Given the description of an element on the screen output the (x, y) to click on. 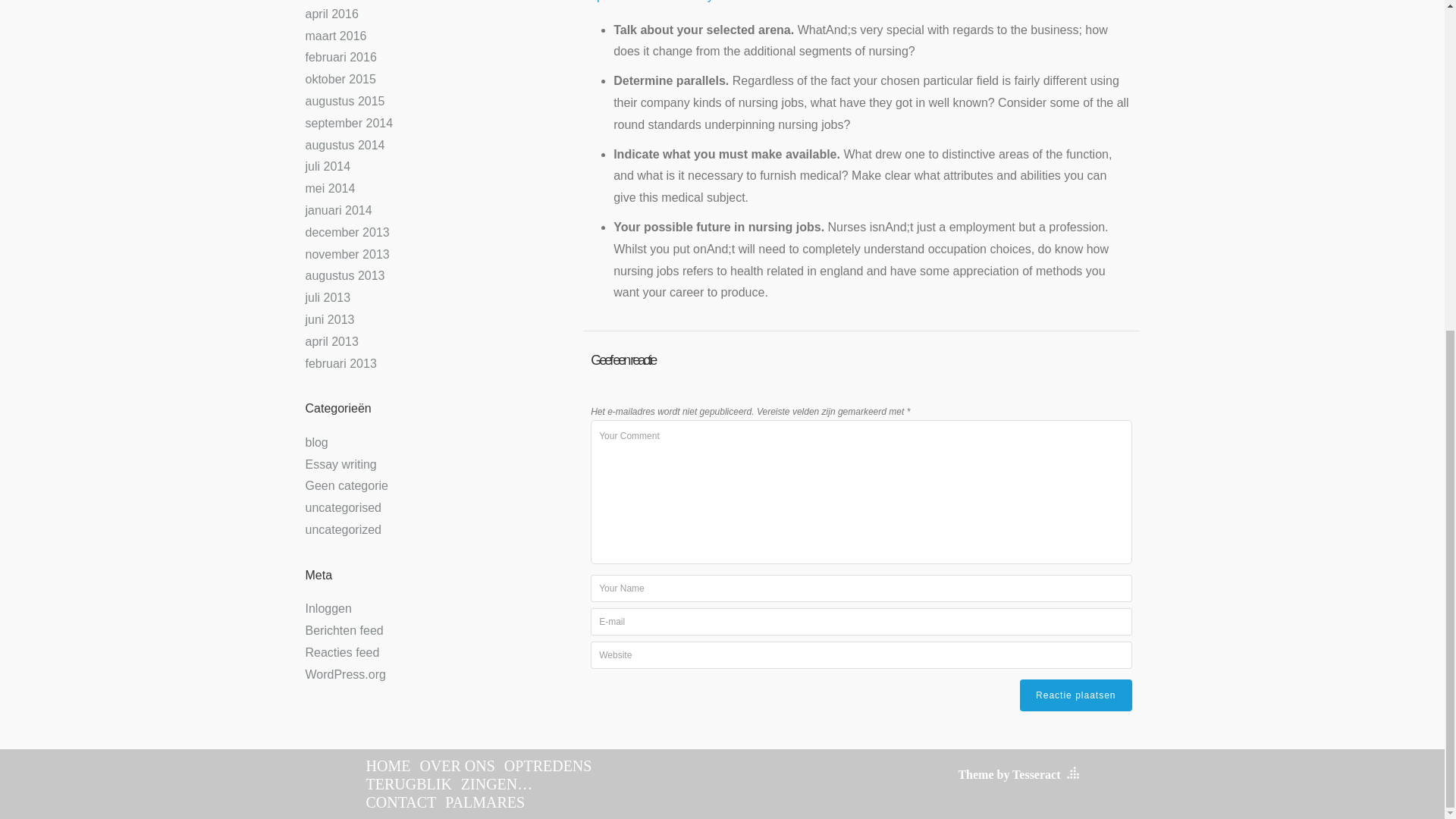
oktober 2015 (339, 78)
juni 2013 (328, 318)
juli 2013 (327, 297)
mei 2014 (329, 187)
maart 2016 (335, 35)
april 2016 (331, 13)
februari 2013 (339, 363)
augustus 2015 (344, 101)
april 2013 (331, 341)
Reactie plaatsen (1075, 695)
